Given the description of an element on the screen output the (x, y) to click on. 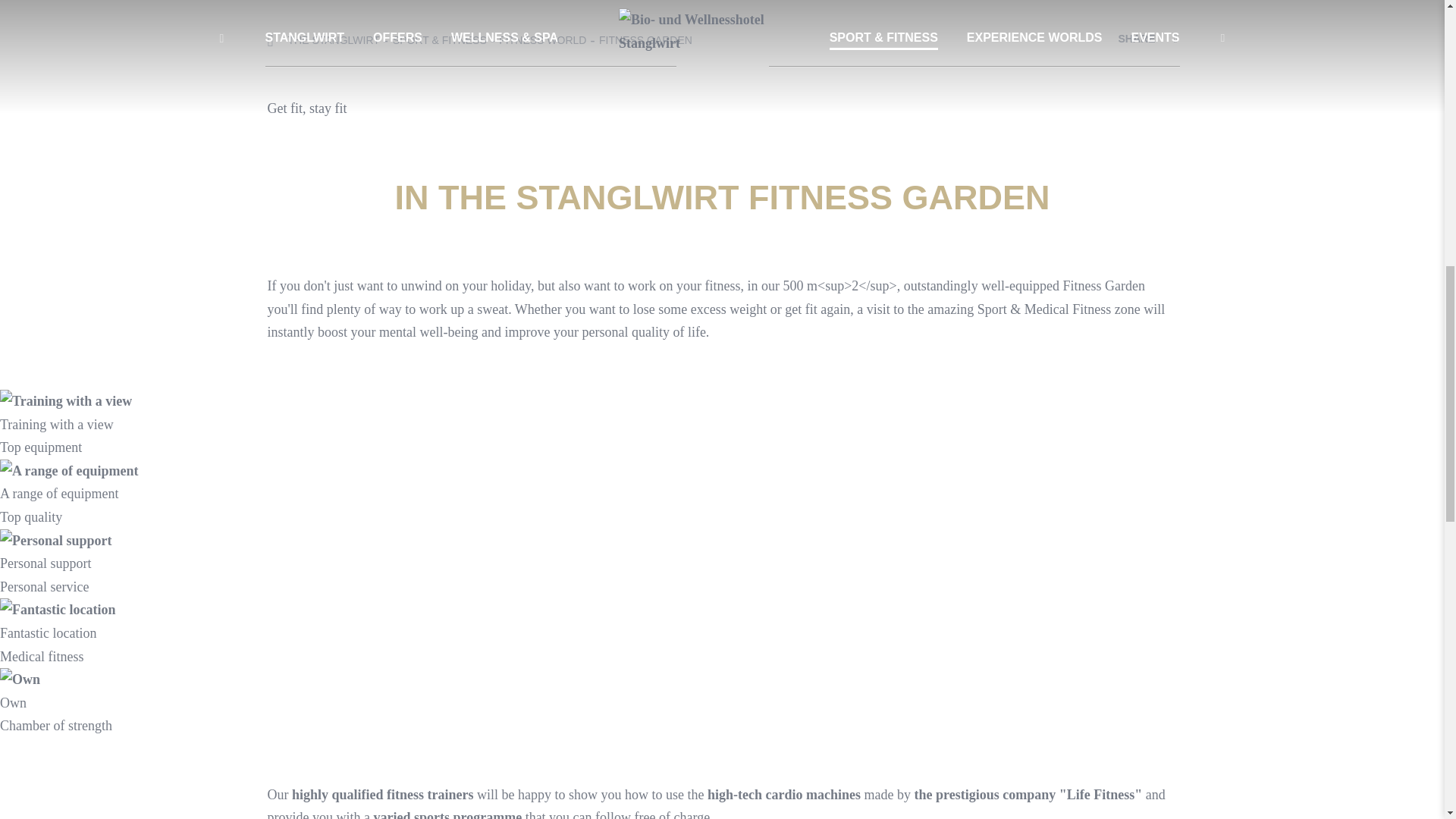
THE STANGLWIRT (322, 40)
A range of equipment (69, 470)
FITNESS GARDEN (645, 40)
The Stanglwirt (322, 40)
Fitness Garden (645, 40)
Fitness World (542, 40)
FITNESS WORLD (542, 40)
